Given the description of an element on the screen output the (x, y) to click on. 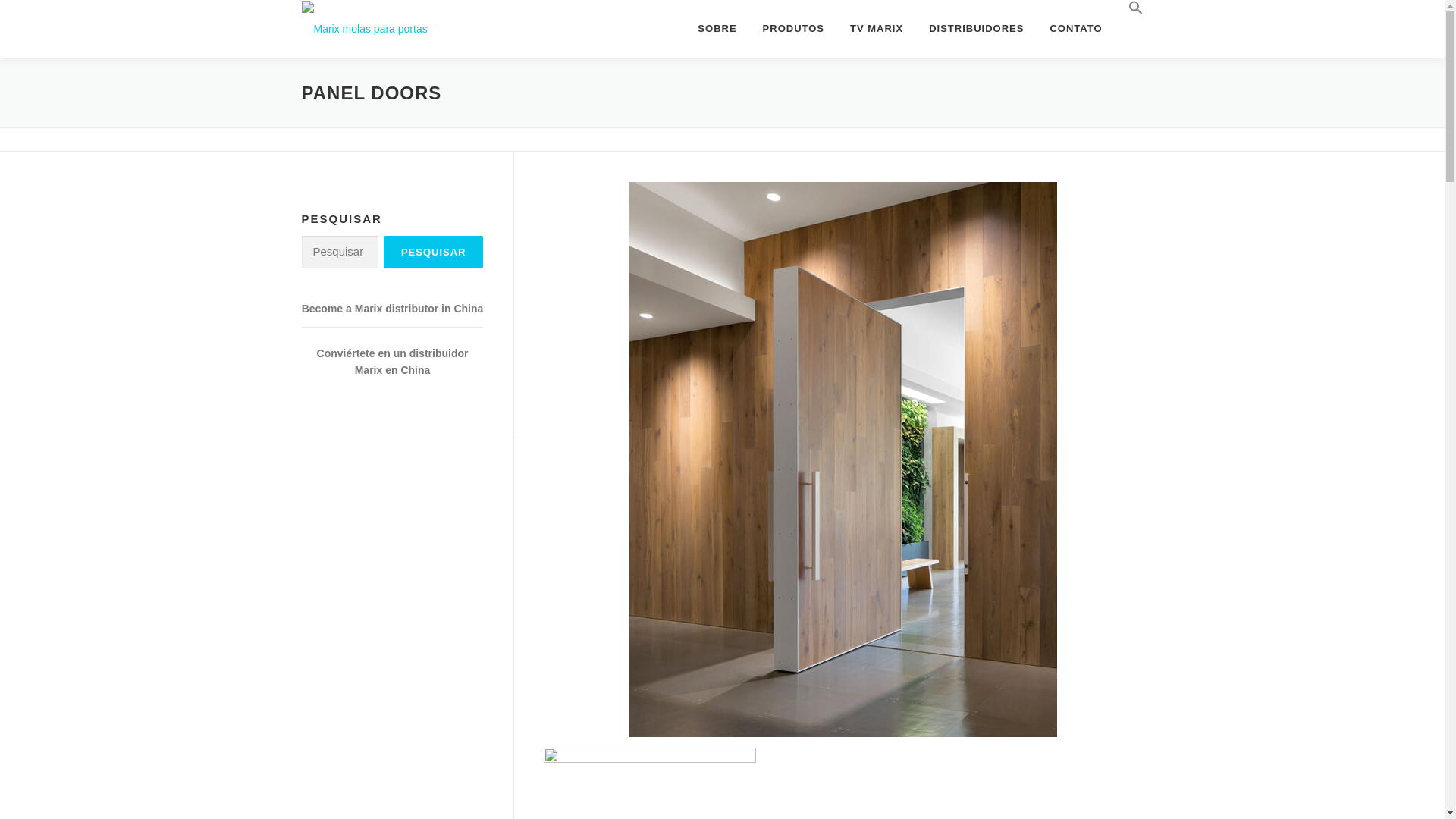
DISTRIBUIDORES (975, 28)
SOBRE (716, 28)
CONTATO (1075, 28)
Pesquisar (433, 251)
Pesquisar (433, 251)
TV MARIX (876, 28)
PRODUTOS (793, 28)
Pesquisar (433, 251)
Become a Marix distributor in China (392, 308)
